Given the description of an element on the screen output the (x, y) to click on. 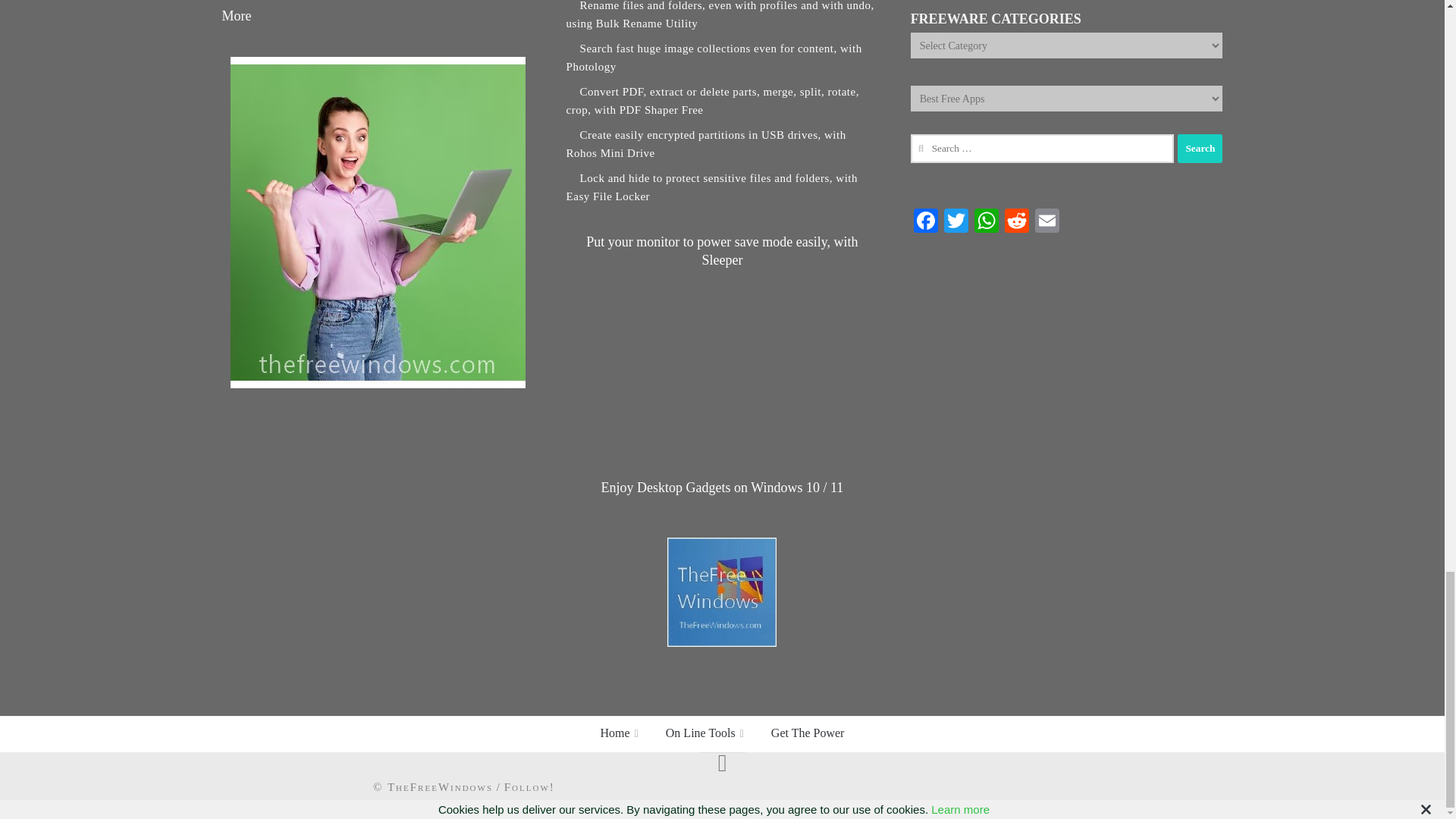
Search (1200, 148)
Search (1200, 148)
